Given the description of an element on the screen output the (x, y) to click on. 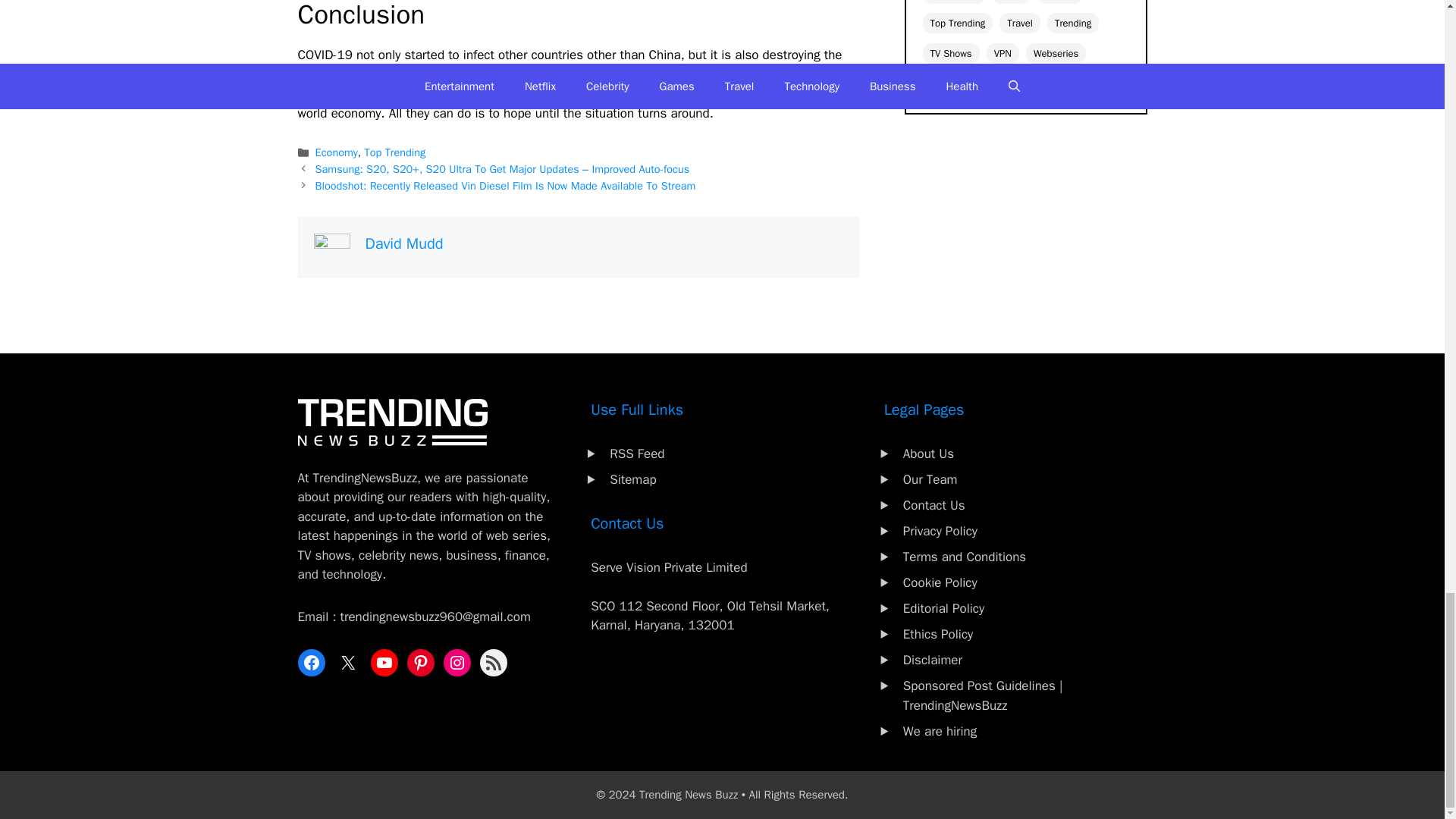
Trendingnewsbuzz-white (391, 421)
Economy (336, 151)
Top Trending (395, 151)
David Mudd (404, 243)
